Given the description of an element on the screen output the (x, y) to click on. 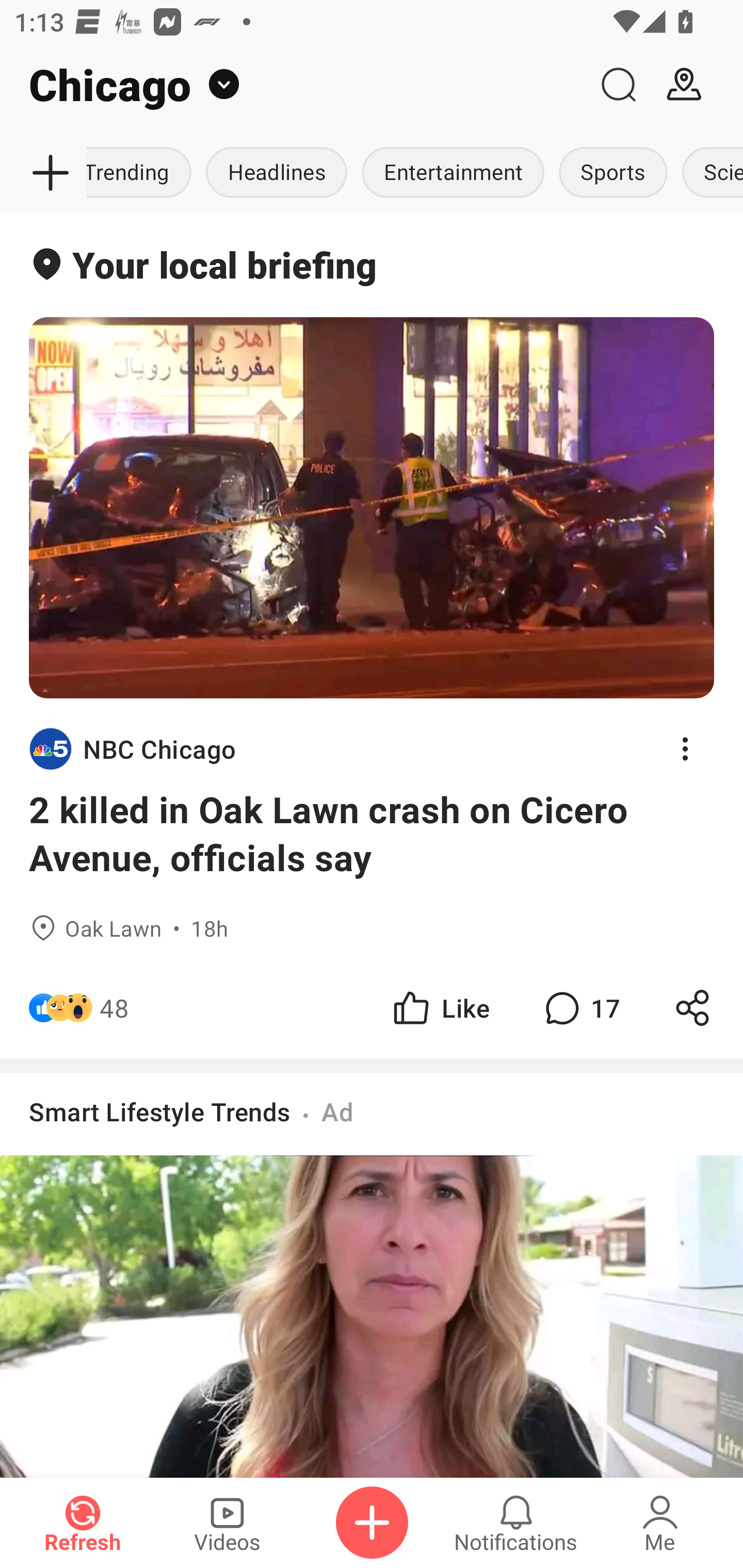
Chicago (292, 84)
Trending (142, 172)
Headlines (276, 172)
Entertainment (452, 172)
Sports (612, 172)
48 (114, 1007)
Like (439, 1007)
17 (579, 1007)
Smart Lifestyle Trends (159, 1111)
Videos (227, 1522)
Notifications (516, 1522)
Me (659, 1522)
